Given the description of an element on the screen output the (x, y) to click on. 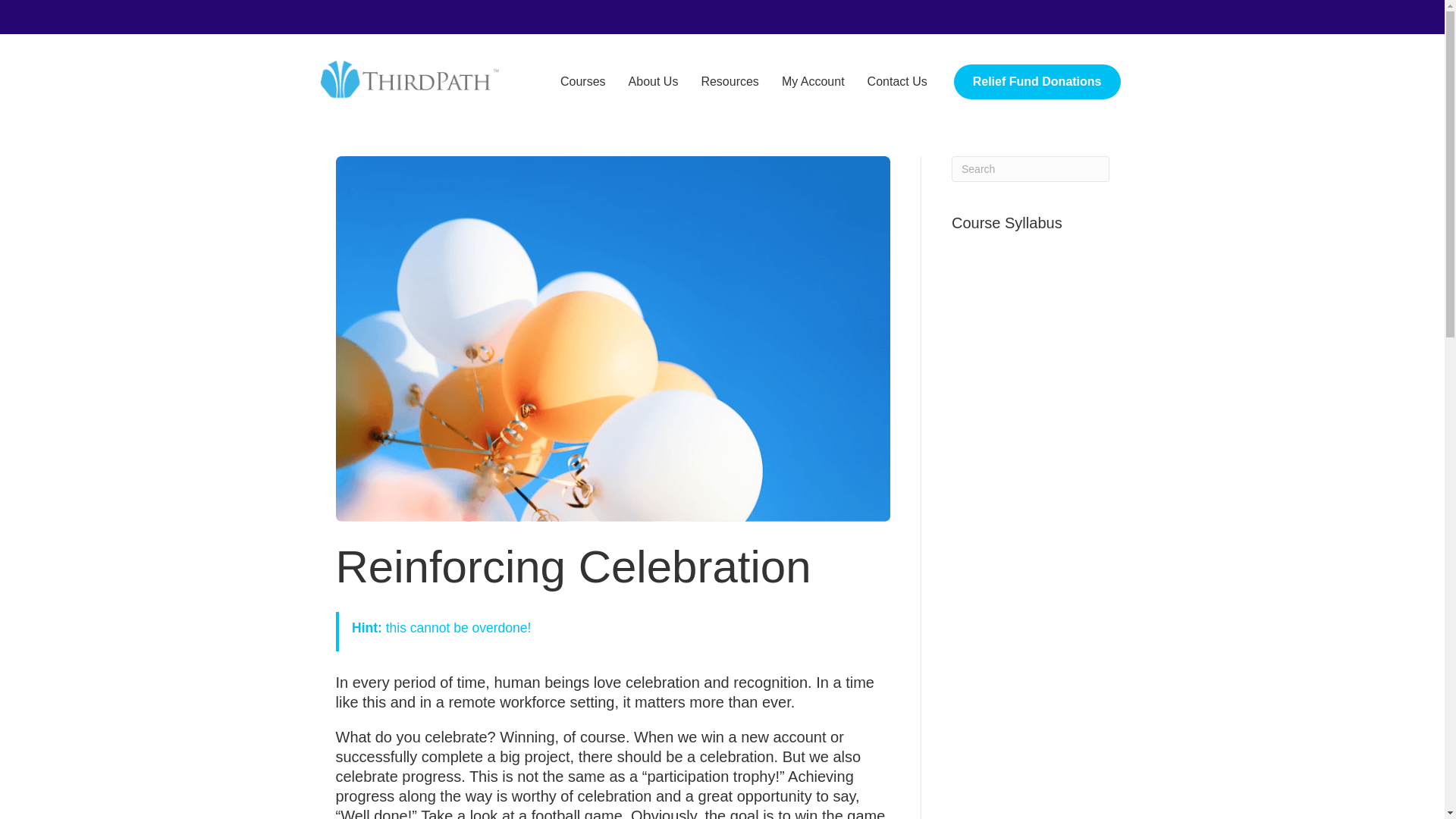
About Us (653, 81)
Relief Fund Donations (1037, 81)
Type and press Enter to search. (1030, 168)
My Account (812, 81)
Menu Logo (413, 81)
Resources (729, 81)
Courses (582, 81)
Contact Us (897, 81)
